Given the description of an element on the screen output the (x, y) to click on. 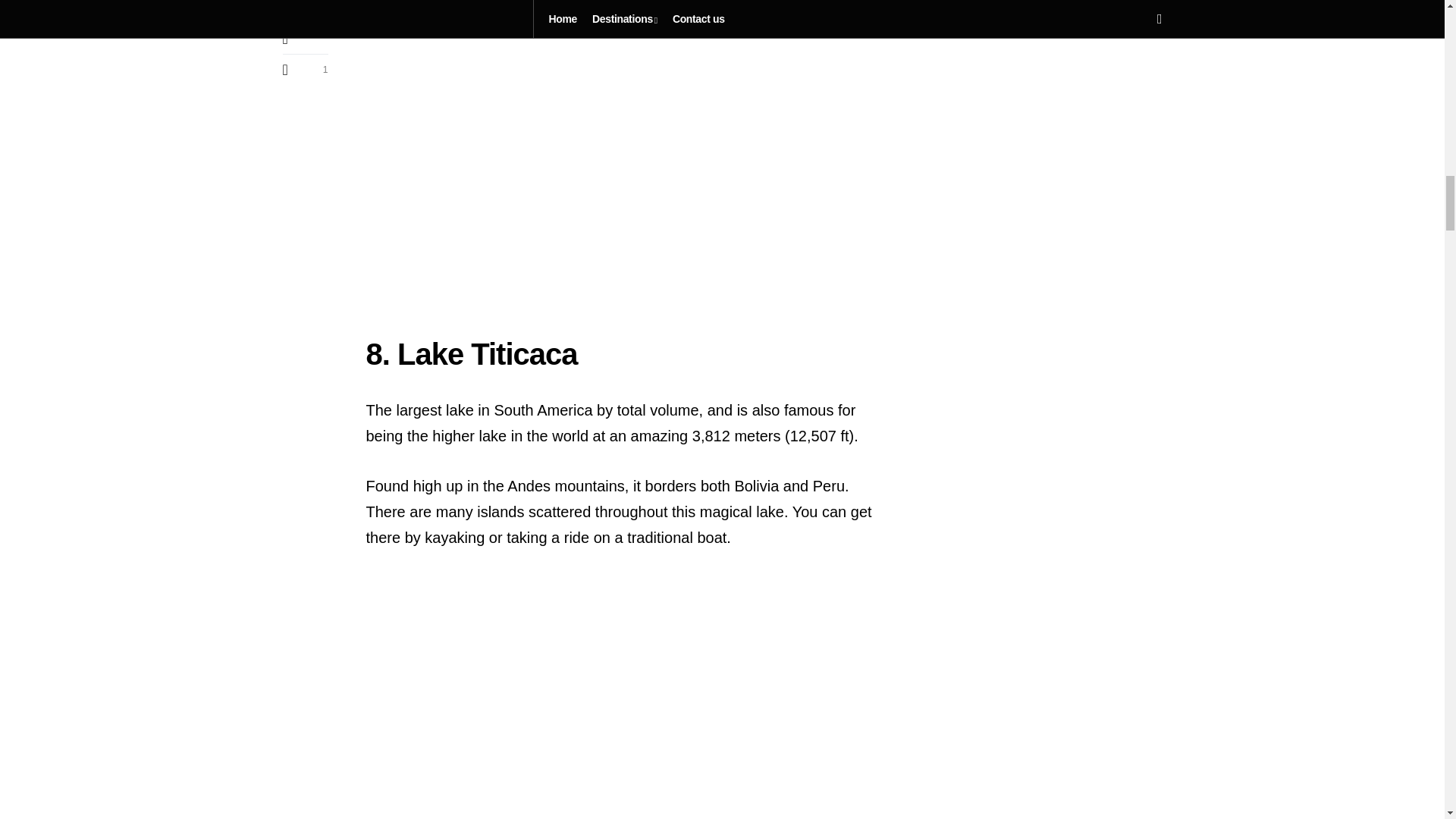
Top 10 Natural Wonders of South America You Must Visit 10 (622, 696)
